Given the description of an element on the screen output the (x, y) to click on. 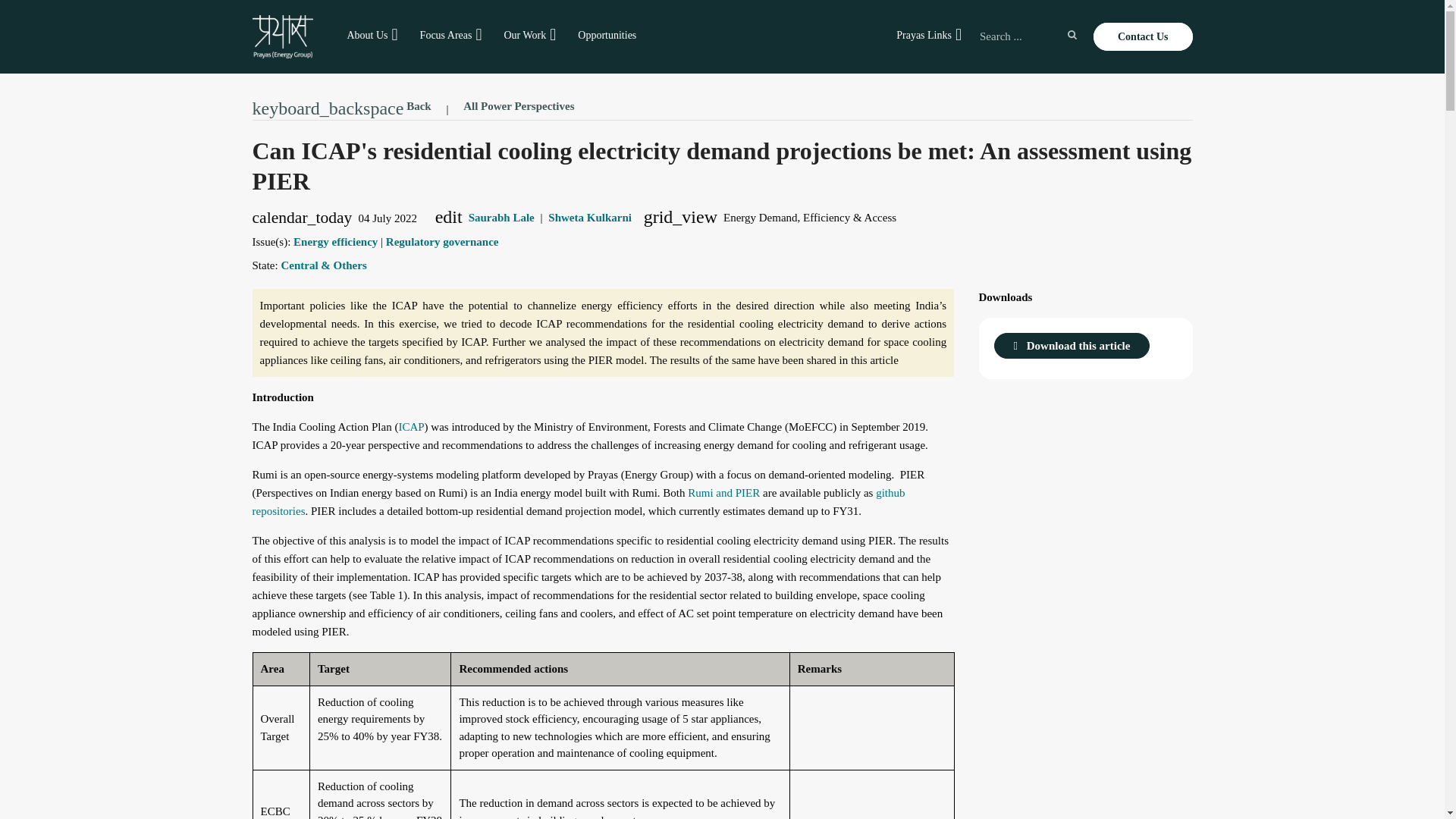
About Us (366, 35)
Contact Us (1142, 36)
Our Work (524, 35)
